Given the description of an element on the screen output the (x, y) to click on. 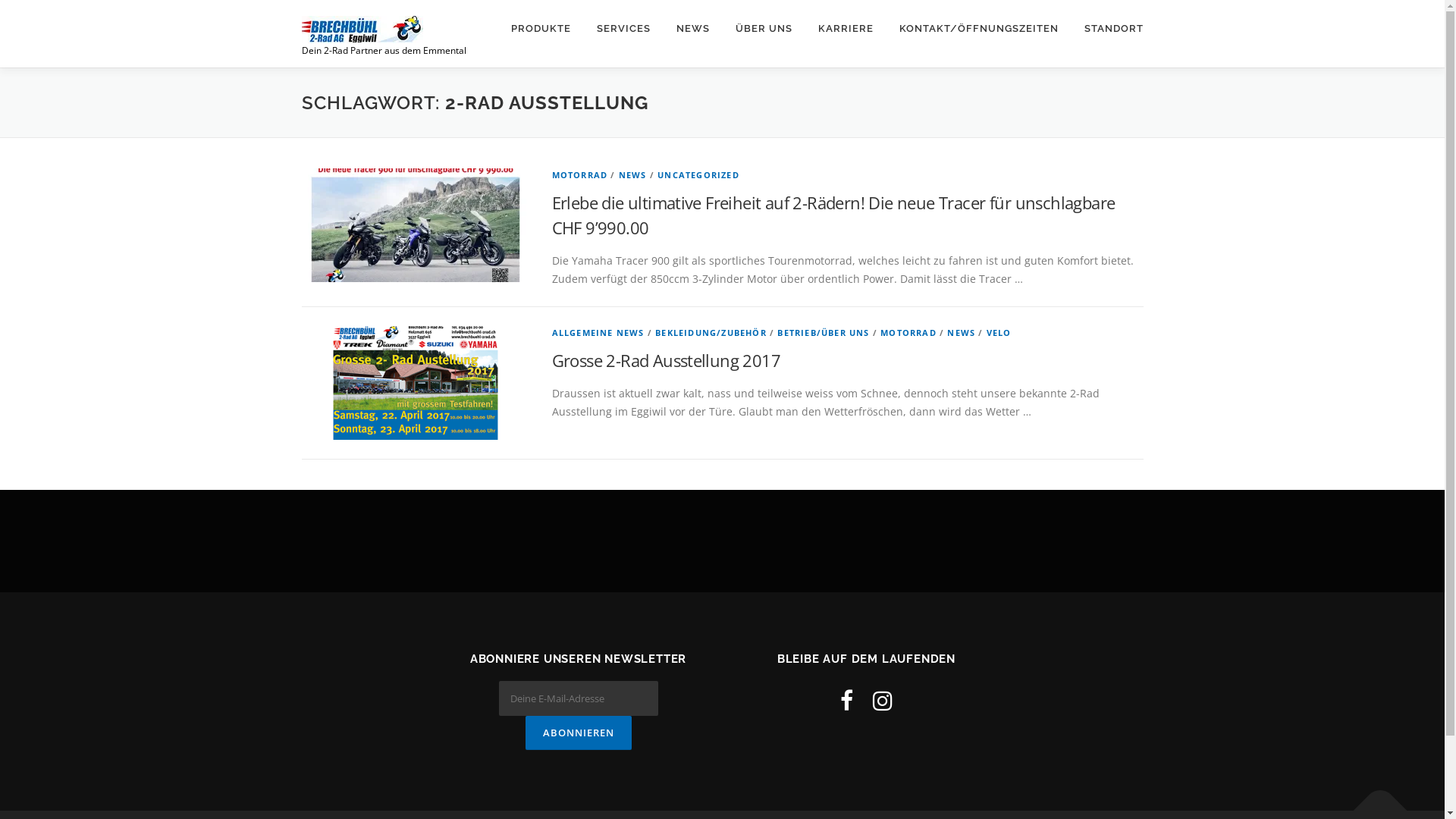
MOTORRAD Element type: text (908, 332)
NEWS Element type: text (961, 332)
NEWS Element type: text (691, 28)
PRODUKTE Element type: text (540, 28)
Abonnieren Element type: text (577, 732)
ALLGEMEINE NEWS Element type: text (598, 332)
MOTORRAD Element type: text (580, 174)
Instagram Element type: hover (882, 699)
SERVICES Element type: text (623, 28)
STANDORT Element type: text (1106, 28)
NEWS Element type: text (632, 174)
KARRIERE Element type: text (845, 28)
Facebook Element type: hover (846, 699)
VELO Element type: text (998, 332)
Grosse 2-Rad Ausstellung 2017 Element type: text (666, 359)
UNCATEGORIZED Element type: text (698, 174)
